Given the description of an element on the screen output the (x, y) to click on. 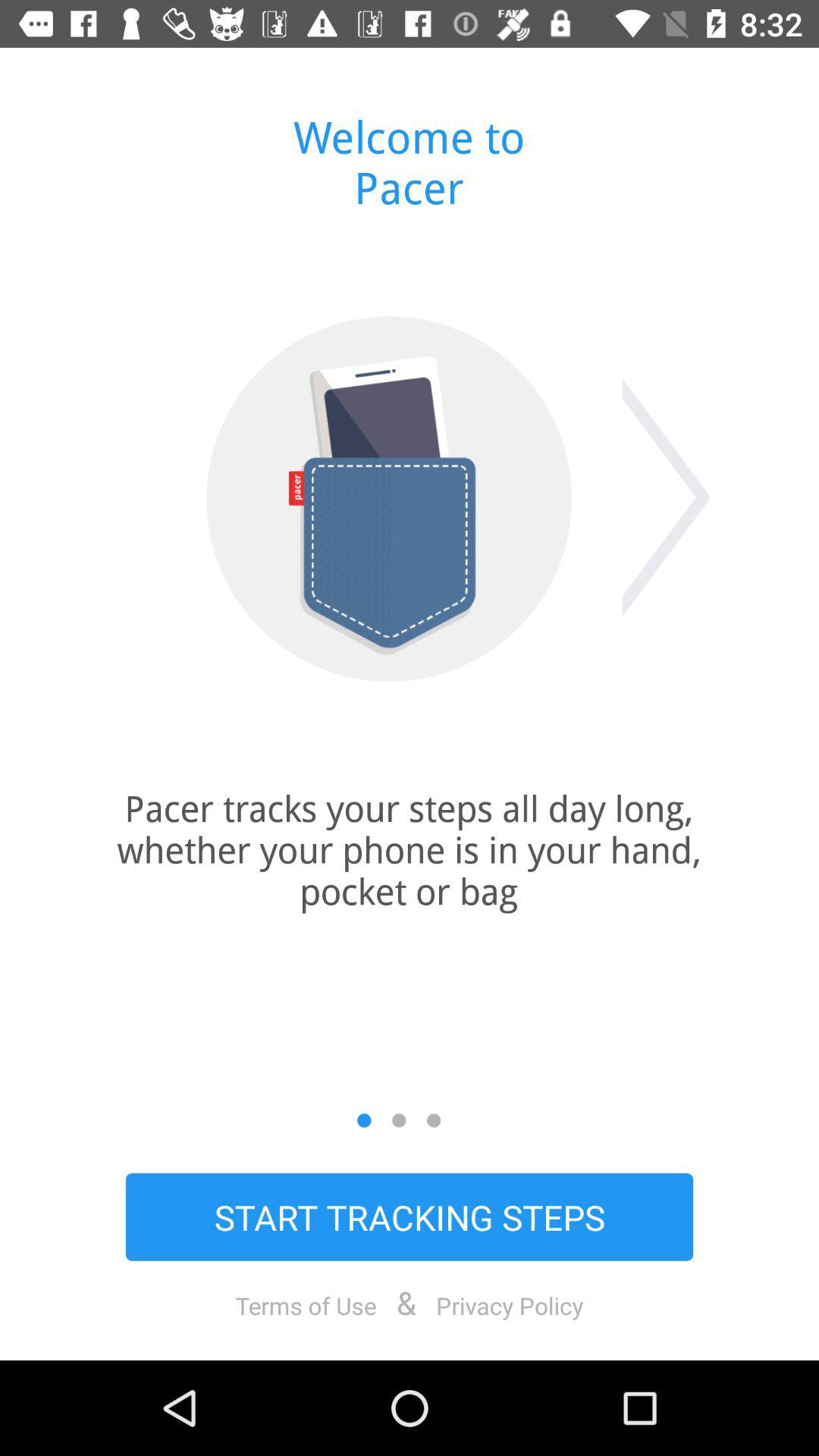
turn on item next to & icon (509, 1305)
